Given the description of an element on the screen output the (x, y) to click on. 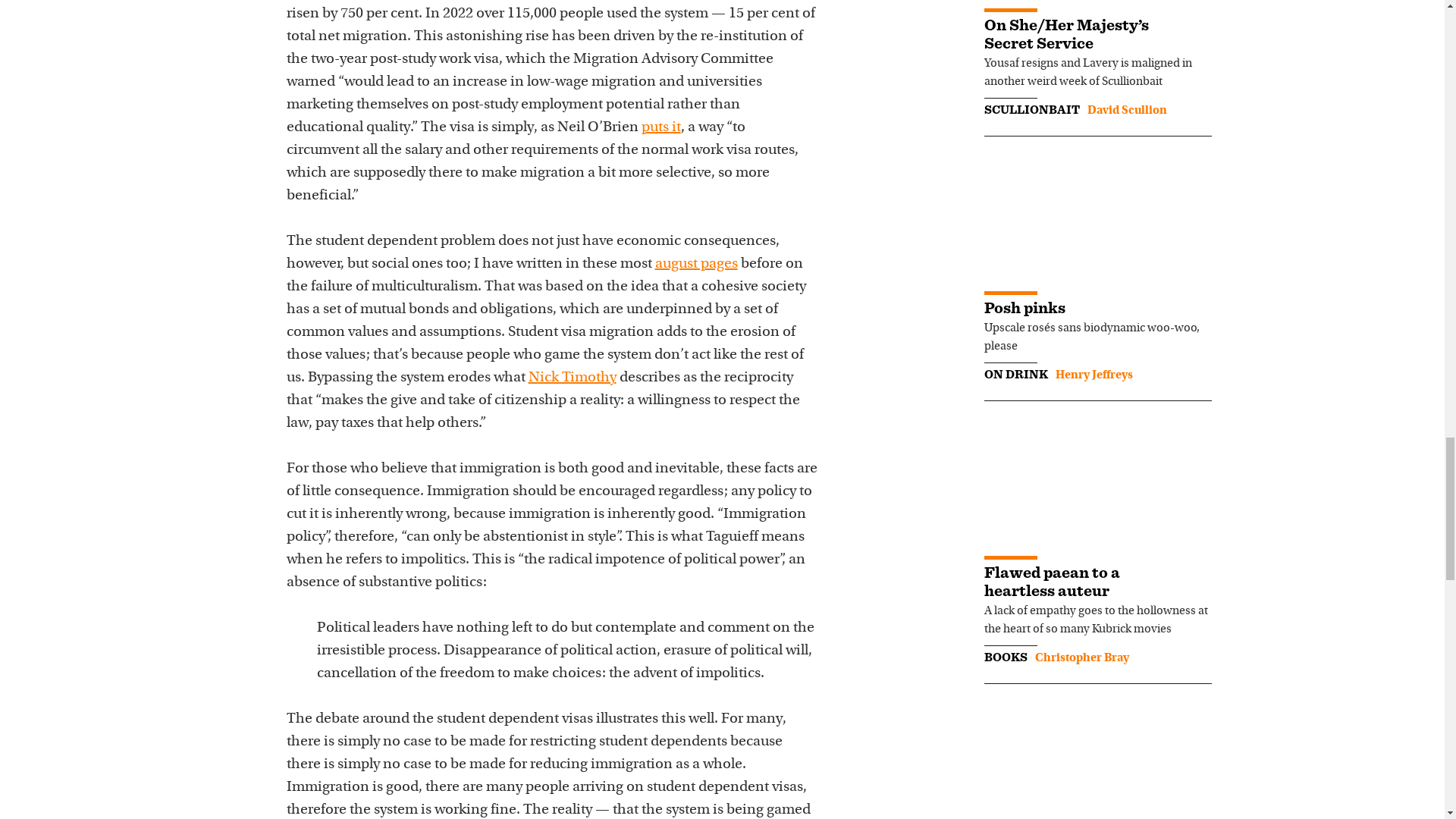
Posts by Christopher Bray (1080, 657)
Nick Timothy (571, 377)
Posts by Henry Jeffreys (1093, 375)
Posts by David Scullion (1127, 110)
puts it (661, 127)
august pages (696, 263)
